Given the description of an element on the screen output the (x, y) to click on. 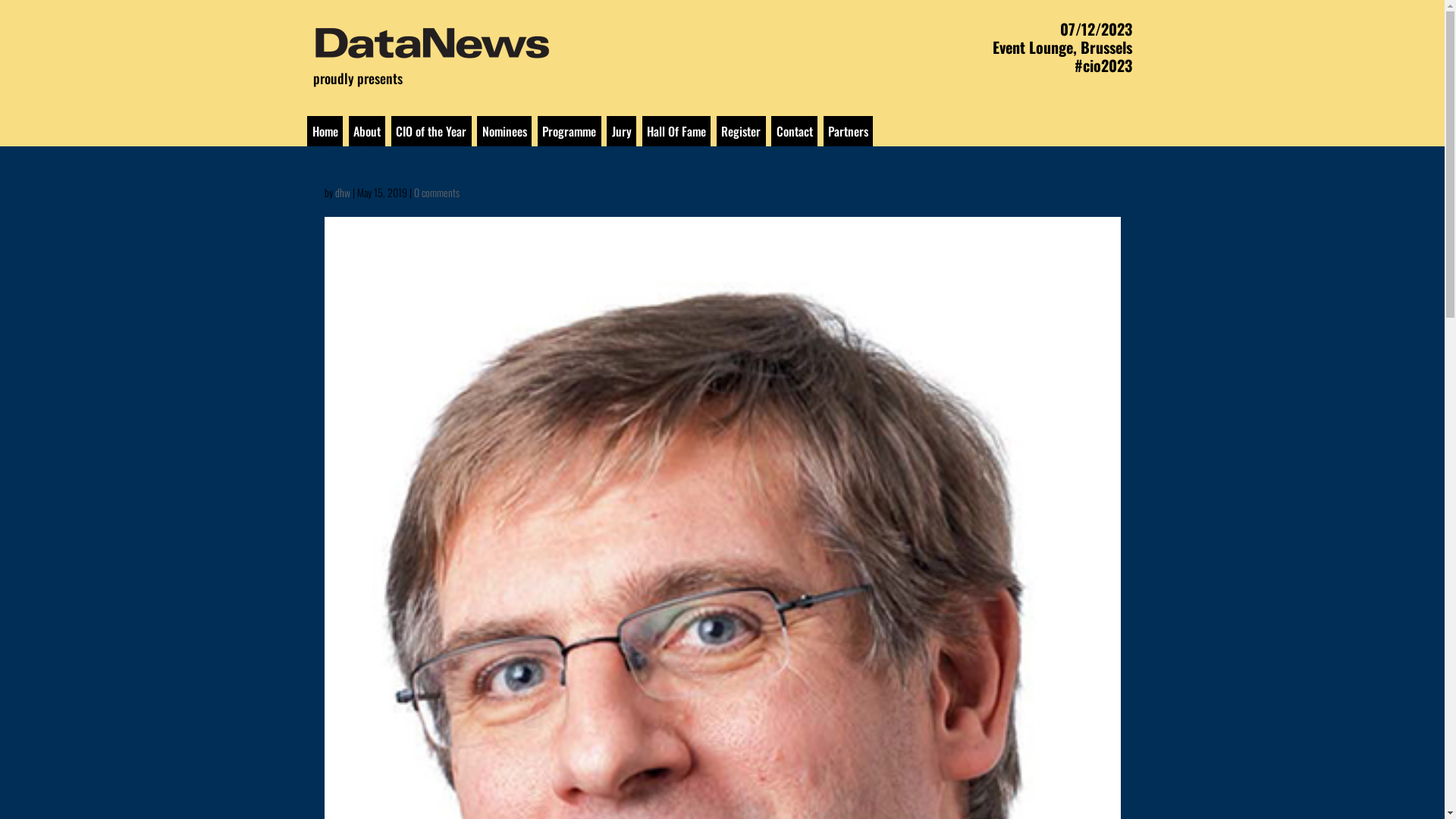
About Element type: text (366, 131)
CIO of the Year Element type: text (431, 131)
Hall Of Fame Element type: text (676, 131)
Register Element type: text (740, 131)
Home Element type: text (324, 131)
dhw Element type: text (342, 192)
Nominees Element type: text (503, 131)
Programme Element type: text (569, 131)
0 comments Element type: text (436, 192)
Contact Element type: text (794, 131)
Jury Element type: text (621, 131)
Partners Element type: text (848, 131)
